Given the description of an element on the screen output the (x, y) to click on. 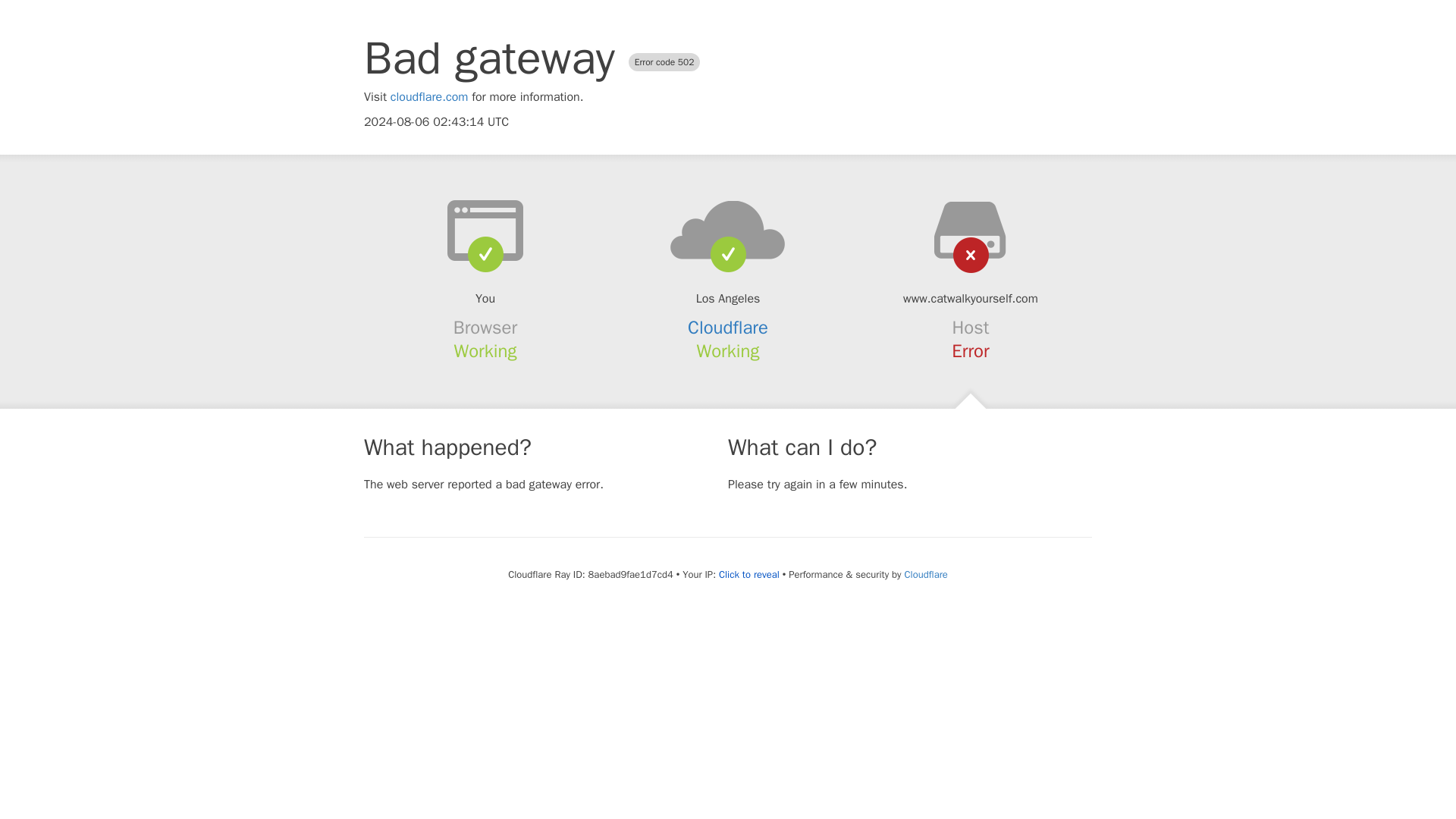
cloudflare.com (429, 96)
Click to reveal (748, 574)
Cloudflare (727, 327)
Cloudflare (925, 574)
